Given the description of an element on the screen output the (x, y) to click on. 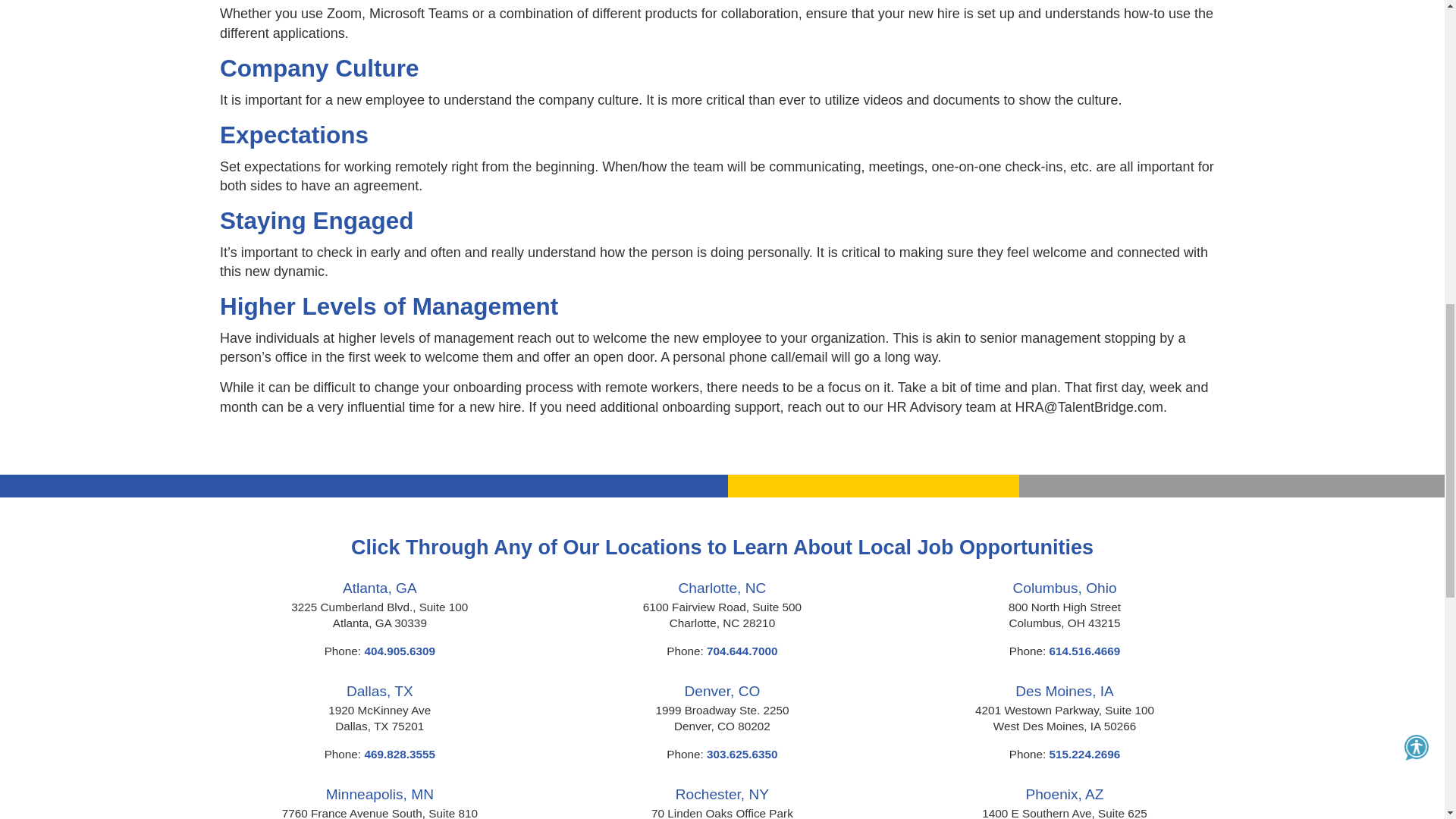
Minneapolis, MN (379, 794)
Charlotte, NC (722, 587)
Des Moines, IA (1063, 691)
Denver, CO (722, 691)
469.828.3555 (399, 753)
704.644.7000 (741, 650)
303.625.6350 (741, 753)
614.516.4669 (1085, 650)
Columbus, Ohio (1064, 587)
515.224.2696 (1085, 753)
404.905.6309 (399, 650)
Atlanta, GA (379, 587)
Dallas, TX (379, 691)
